Given the description of an element on the screen output the (x, y) to click on. 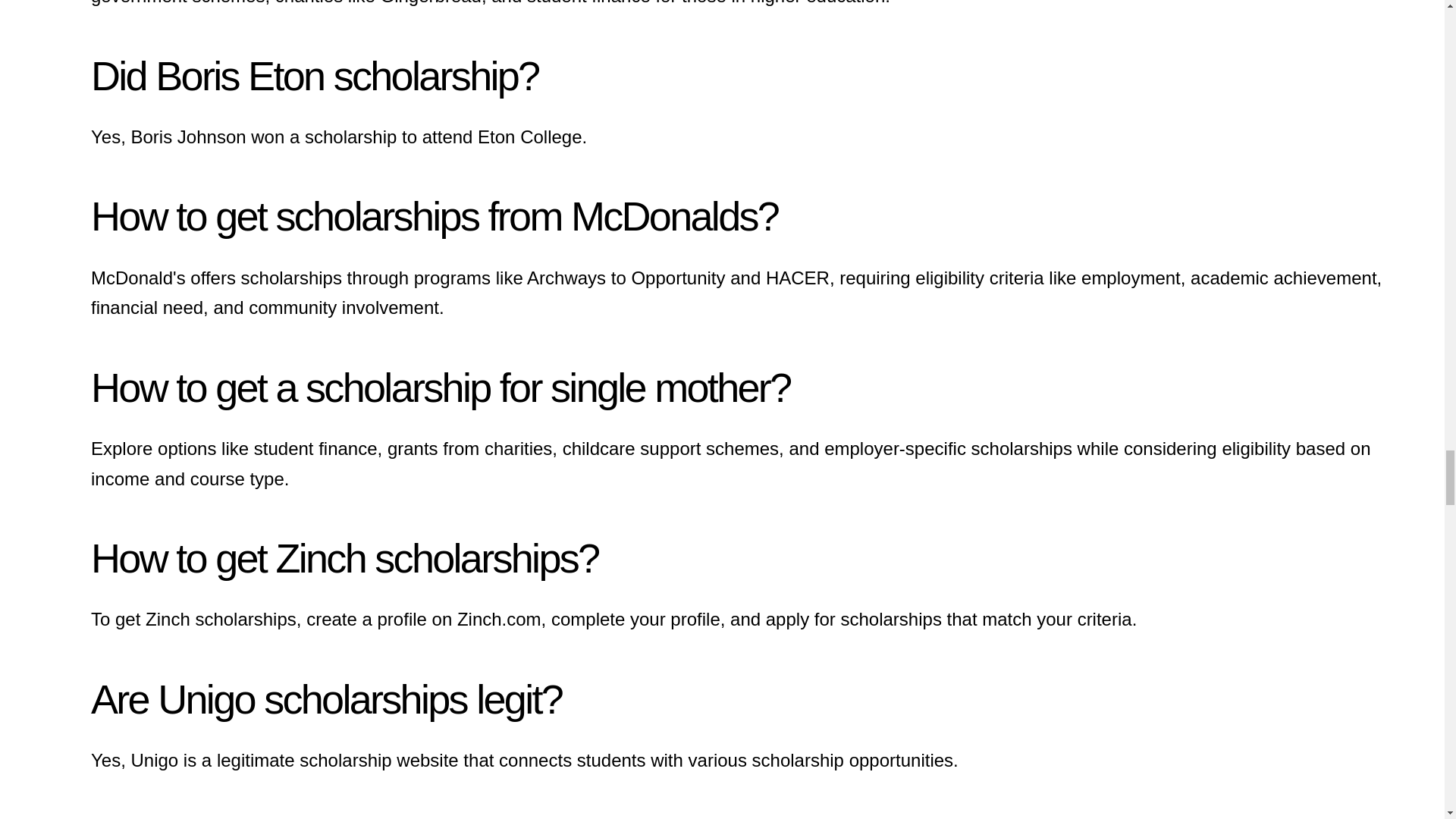
Did Boris Eton scholarship? (314, 75)
